Given the description of an element on the screen output the (x, y) to click on. 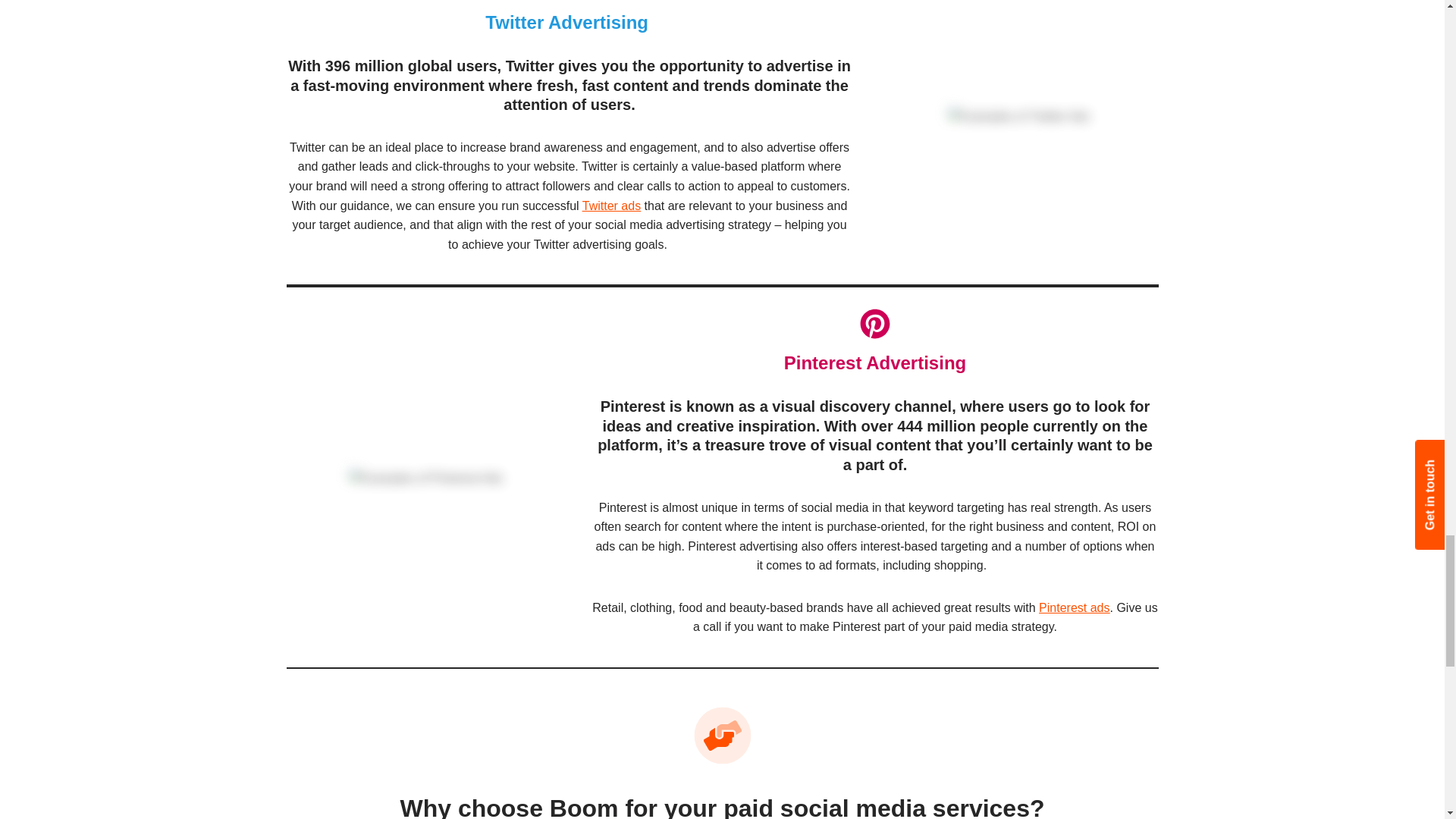
Social Media Advertising 6 (425, 478)
Social Media Advertising 5 (1018, 116)
